Given the description of an element on the screen output the (x, y) to click on. 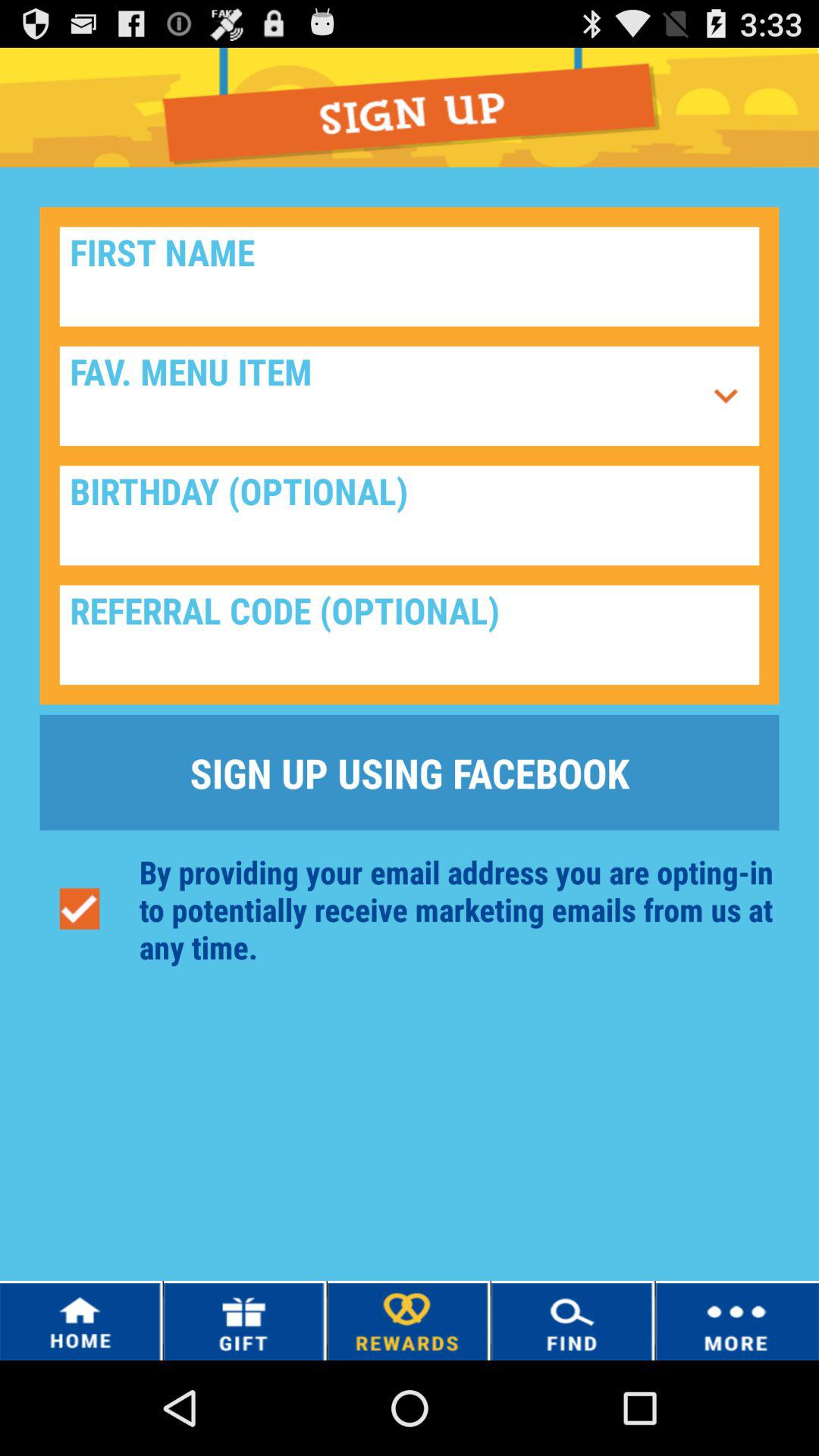
click fav.menu item (380, 395)
